Given the description of an element on the screen output the (x, y) to click on. 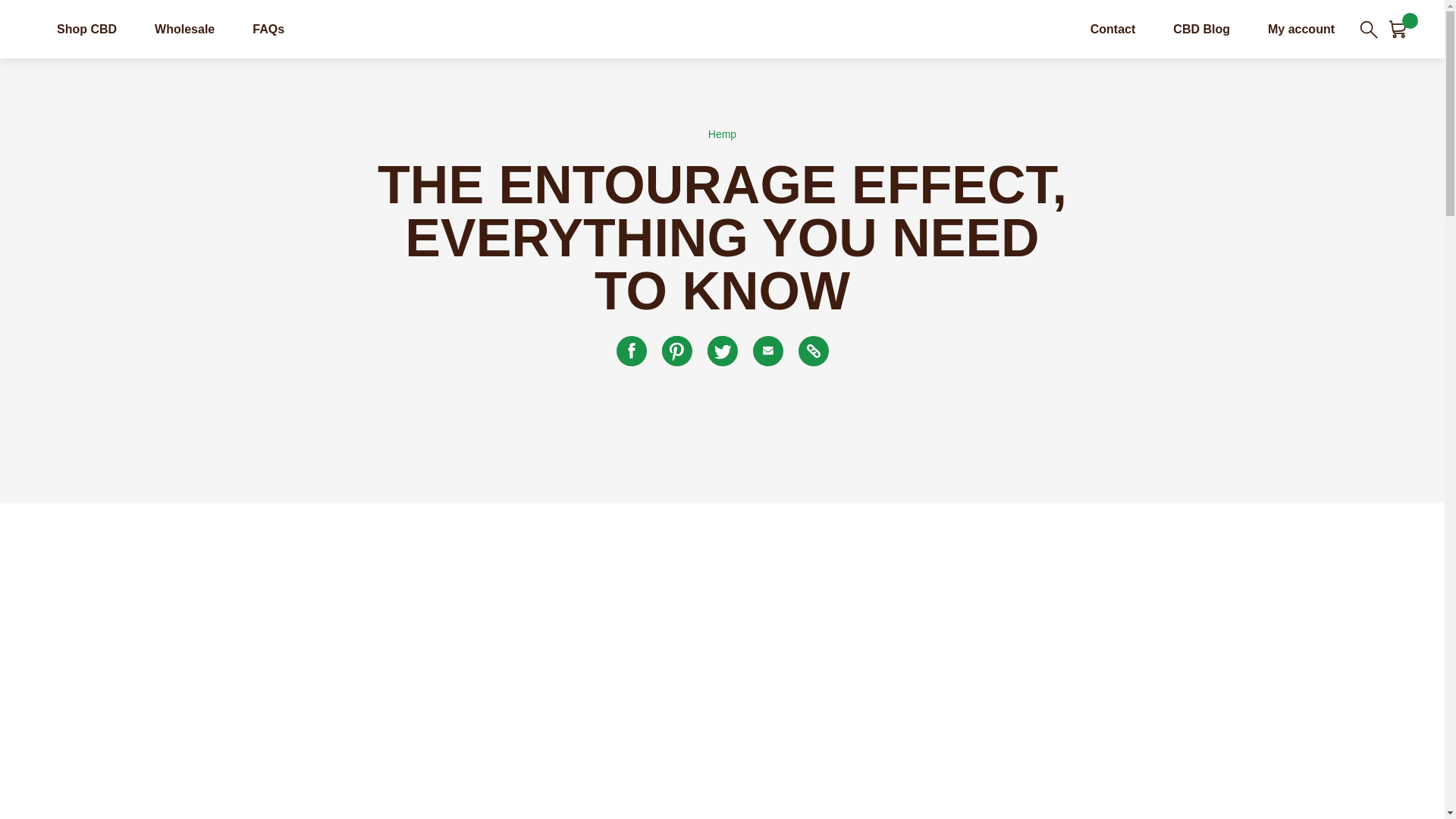
Shop CBD (86, 28)
FAQs (267, 28)
Share this post on Facebook (630, 350)
Copy this post to your clipboard (812, 350)
Share this post via Email (767, 350)
Wholesale (183, 28)
view cart (1397, 28)
Pin this post on Pinterest (676, 350)
Share this post on Twitter (721, 350)
Contact (1112, 28)
